Given the description of an element on the screen output the (x, y) to click on. 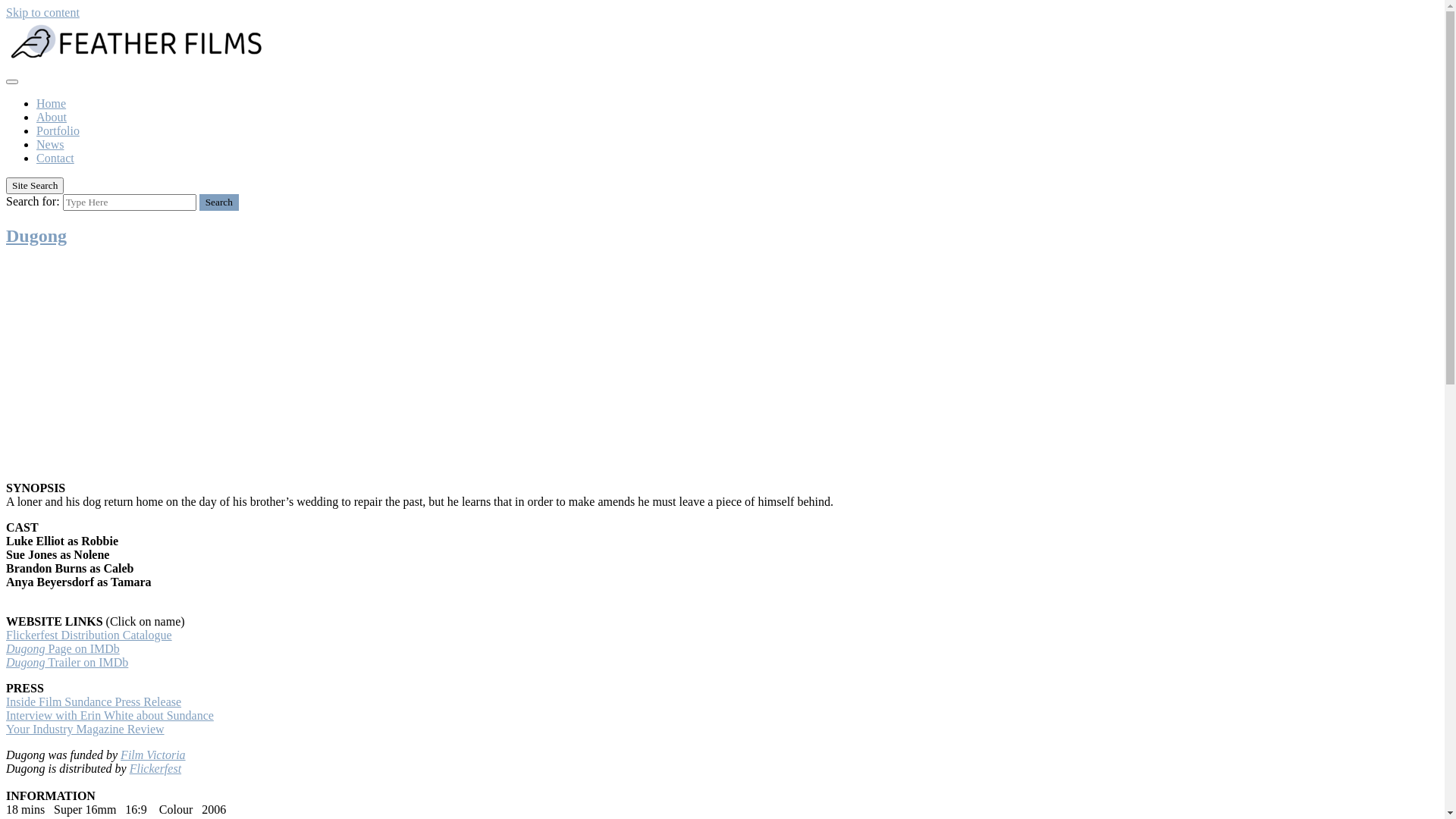
Portfolio Element type: text (57, 130)
Skip to content Element type: text (42, 12)
Dugong Element type: text (25, 661)
Trailer on IMDb Element type: text (86, 661)
Dugong Element type: text (36, 235)
News Element type: text (49, 144)
Interview with Erin White about Sundance Element type: text (109, 715)
Your Industry Magazine Review Element type: text (85, 728)
Film Victoria Element type: text (152, 754)
Home Element type: text (50, 103)
Dugong - TRAILER Element type: hover (218, 363)
Flickerfest Element type: text (155, 768)
Contact Element type: text (55, 157)
Search Element type: text (218, 202)
Inside Film Sundance Press Release Element type: text (93, 701)
Dugong Page on IMDb Element type: text (62, 648)
Flickerfest Distribution Catalogue Element type: text (89, 634)
About Element type: text (51, 116)
Site Search Element type: text (34, 185)
